Given the description of an element on the screen output the (x, y) to click on. 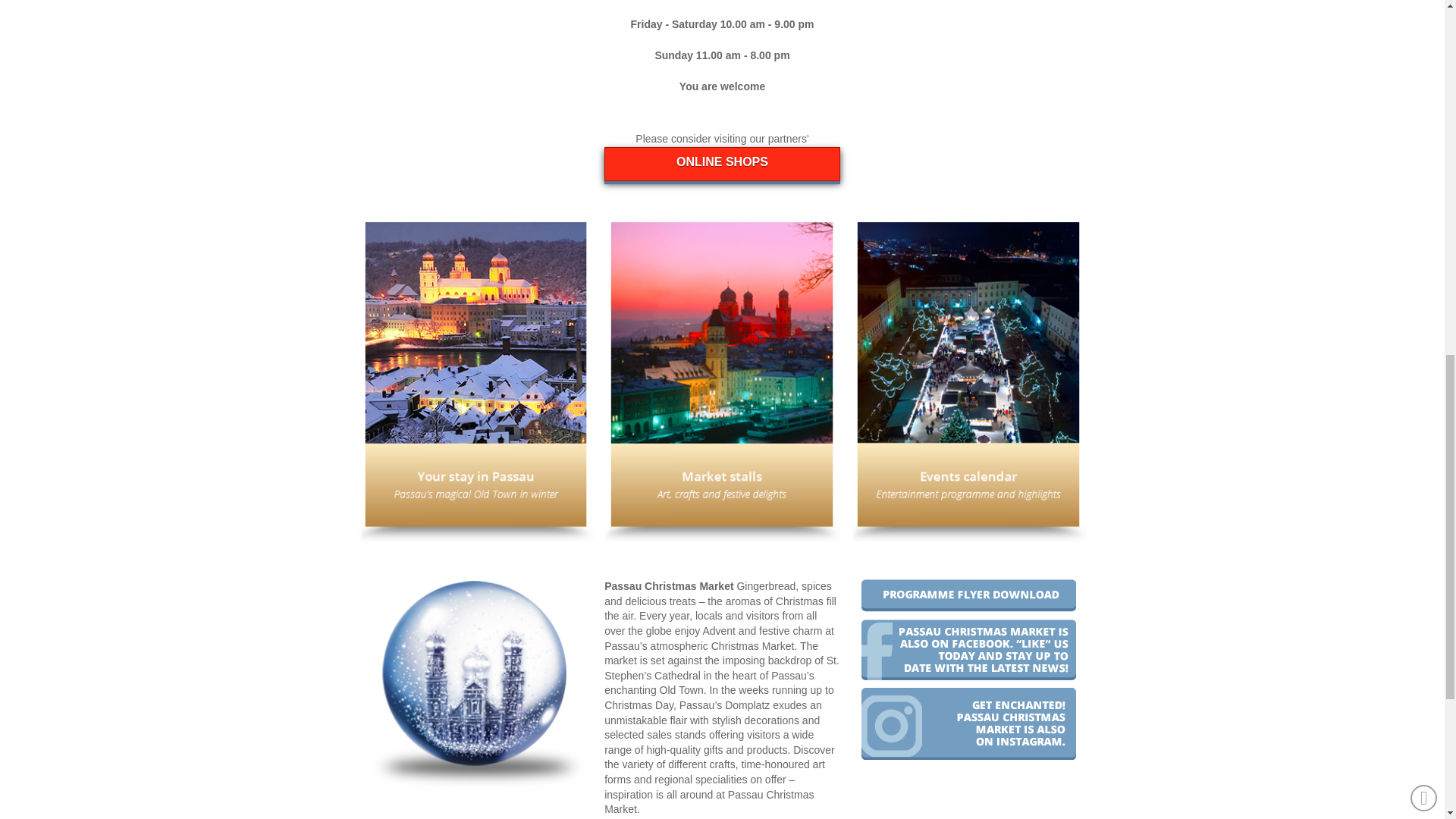
ONLINE SHOPS (722, 163)
